Given the description of an element on the screen output the (x, y) to click on. 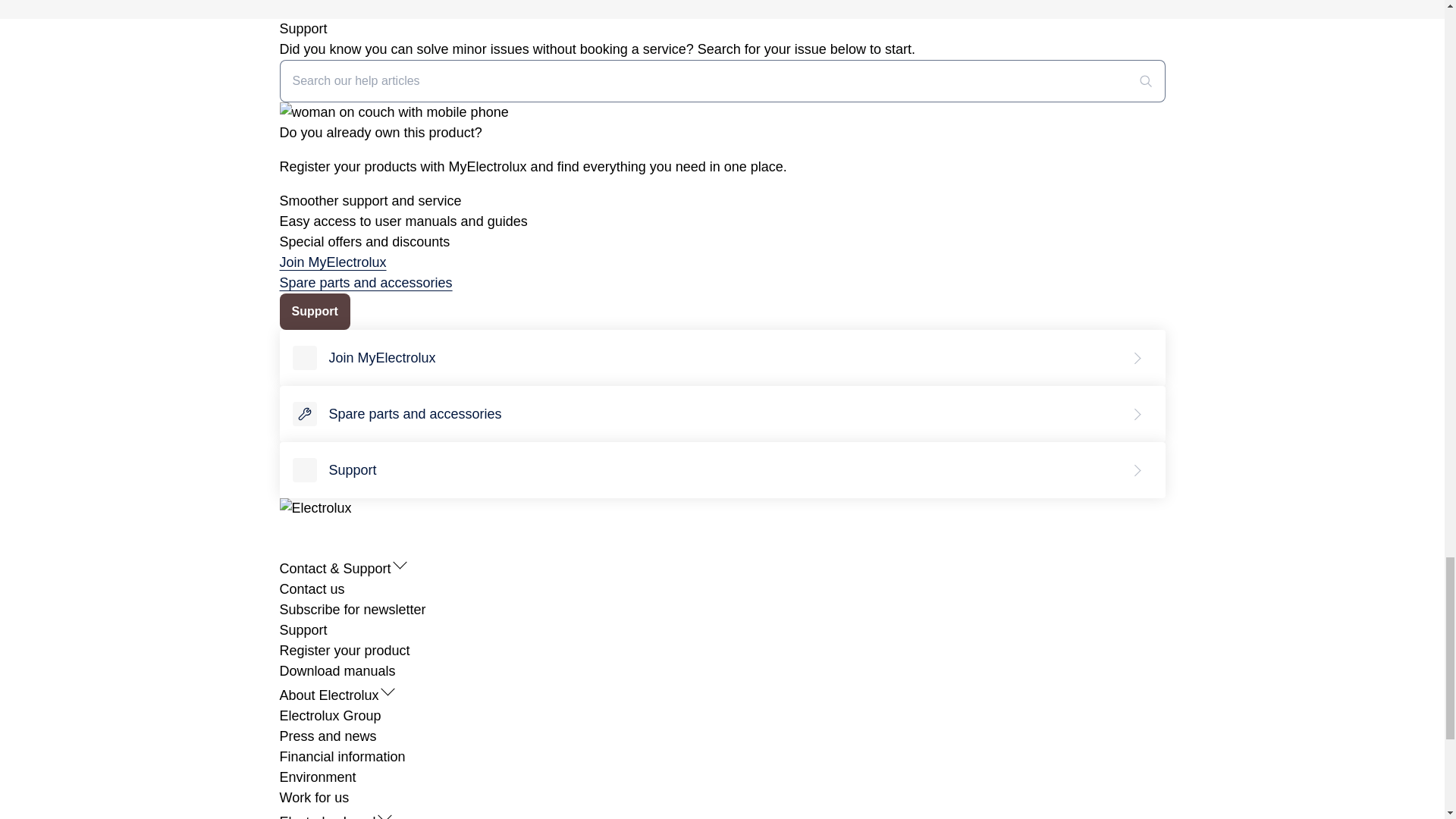
Subscribe for newsletter (352, 609)
Download manuals (336, 670)
Contact us (311, 589)
Electrolux Group (329, 715)
Environment (317, 776)
Work for us (314, 797)
Support (302, 630)
Register your product (344, 650)
Press and news (327, 735)
Electrolux (314, 507)
Financial information (341, 756)
